Given the description of an element on the screen output the (x, y) to click on. 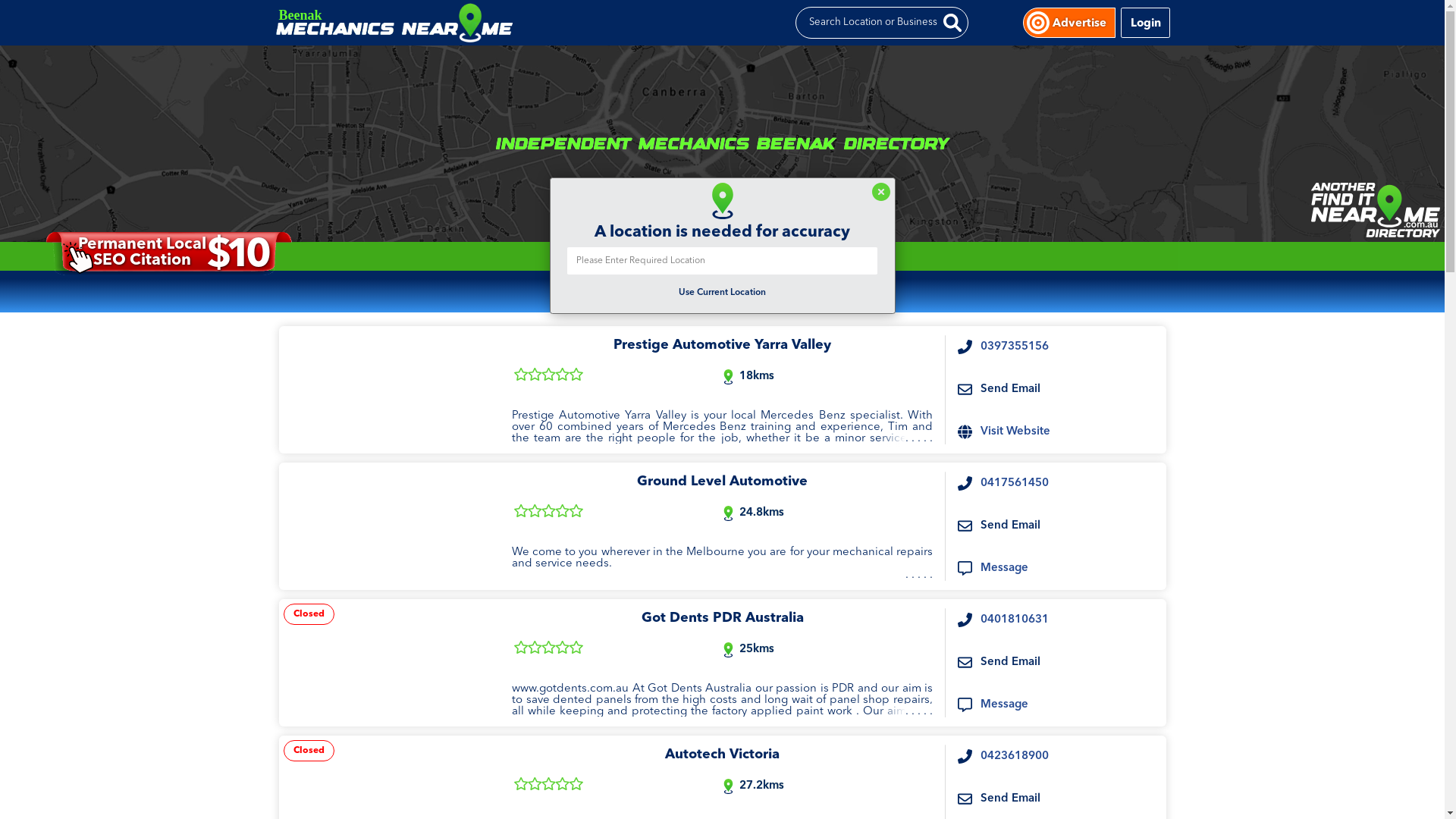
Got Dents PDR Australia Element type: hover (390, 662)
Ground Level Automotive Element type: hover (390, 525)
Advertise Element type: text (1079, 22)
0397355156 Element type: text (1014, 347)
Beenak Element type: text (723, 22)
Prestige Automotive Yarra Valley Element type: hover (390, 389)
Message Element type: text (1004, 568)
Message Element type: text (1004, 705)
Login Element type: text (1144, 22)
0401810631 Element type: text (1014, 620)
0417561450 Element type: text (1014, 483)
Visit Website Element type: text (1015, 432)
0423618900 Element type: text (1014, 756)
$10
Permanent Local
SEO Citation Element type: text (167, 253)
